Given the description of an element on the screen output the (x, y) to click on. 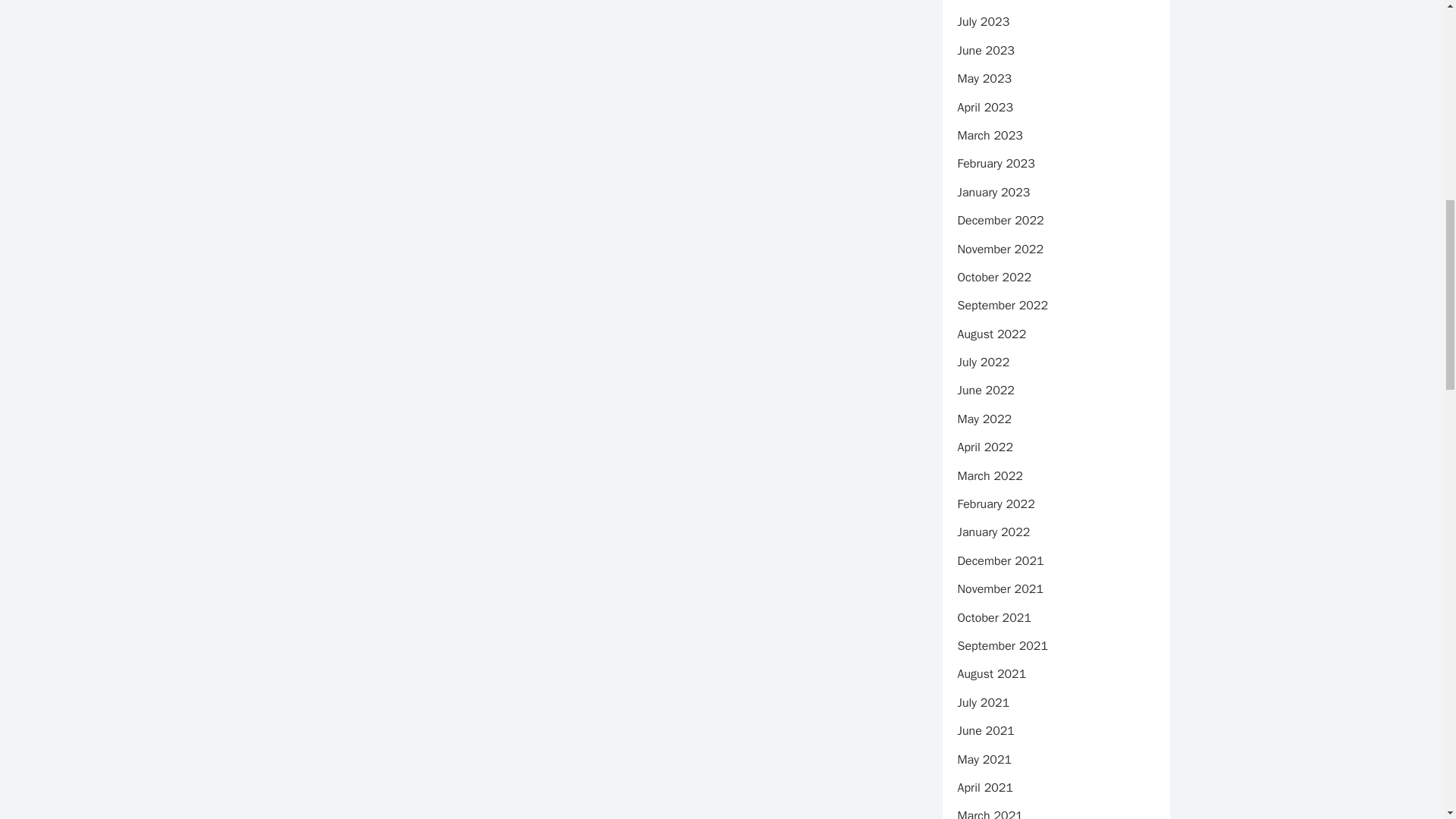
August 2023 (991, 0)
June 2023 (984, 50)
July 2023 (982, 21)
